Given the description of an element on the screen output the (x, y) to click on. 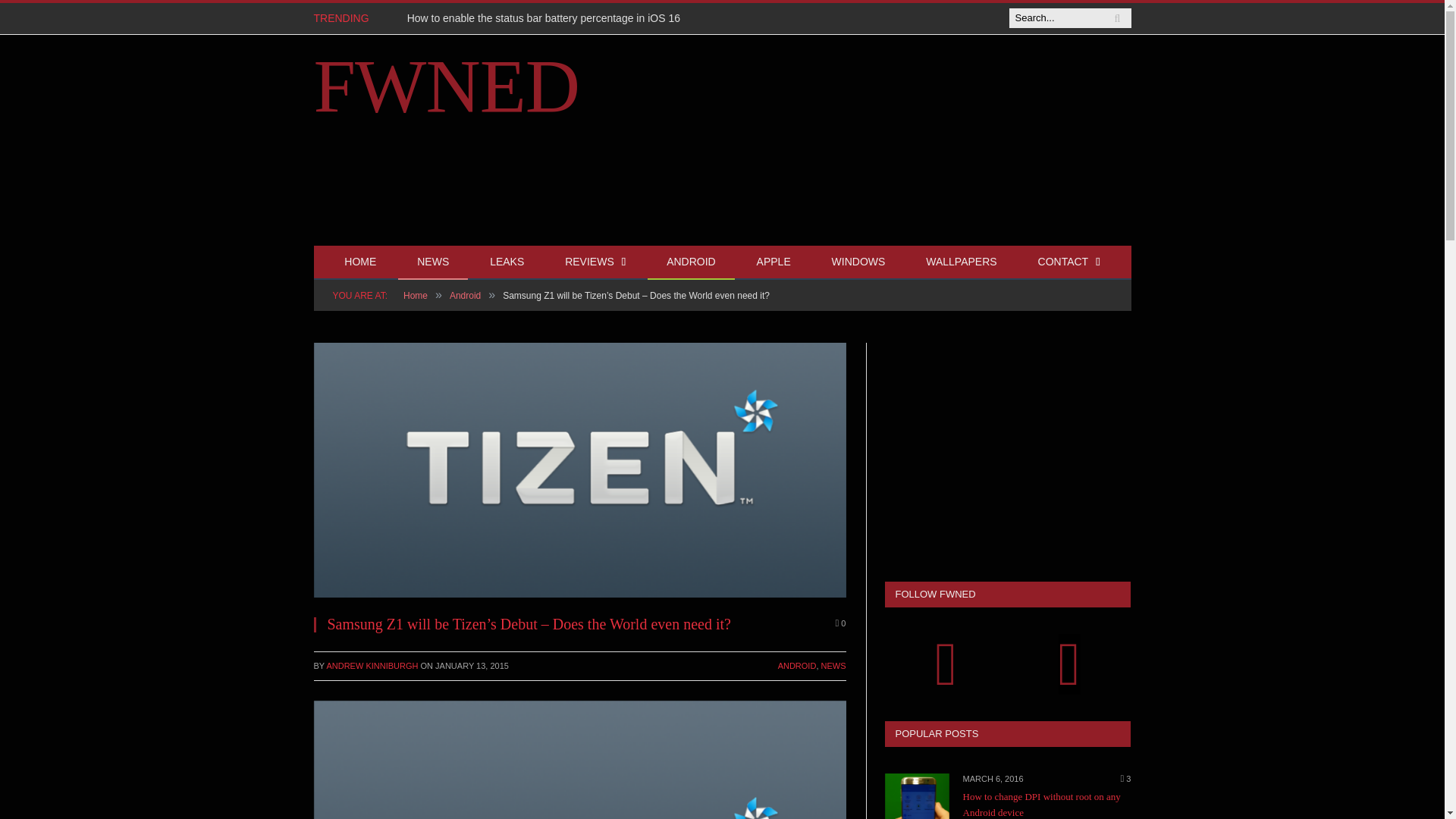
Home (415, 295)
REVIEWS (595, 262)
Android (464, 295)
APPLE (773, 262)
NEWS (833, 665)
LEAKS (506, 262)
How to enable the status bar battery percentage in iOS 16 (547, 18)
ANDROID (691, 262)
HOME (359, 262)
FWNED (446, 85)
ANDREW KINNIBURGH (371, 665)
How to enable the status bar battery percentage in iOS 16 (547, 18)
WINDOWS (858, 262)
ANDROID (796, 665)
FWNED (446, 85)
